Given the description of an element on the screen output the (x, y) to click on. 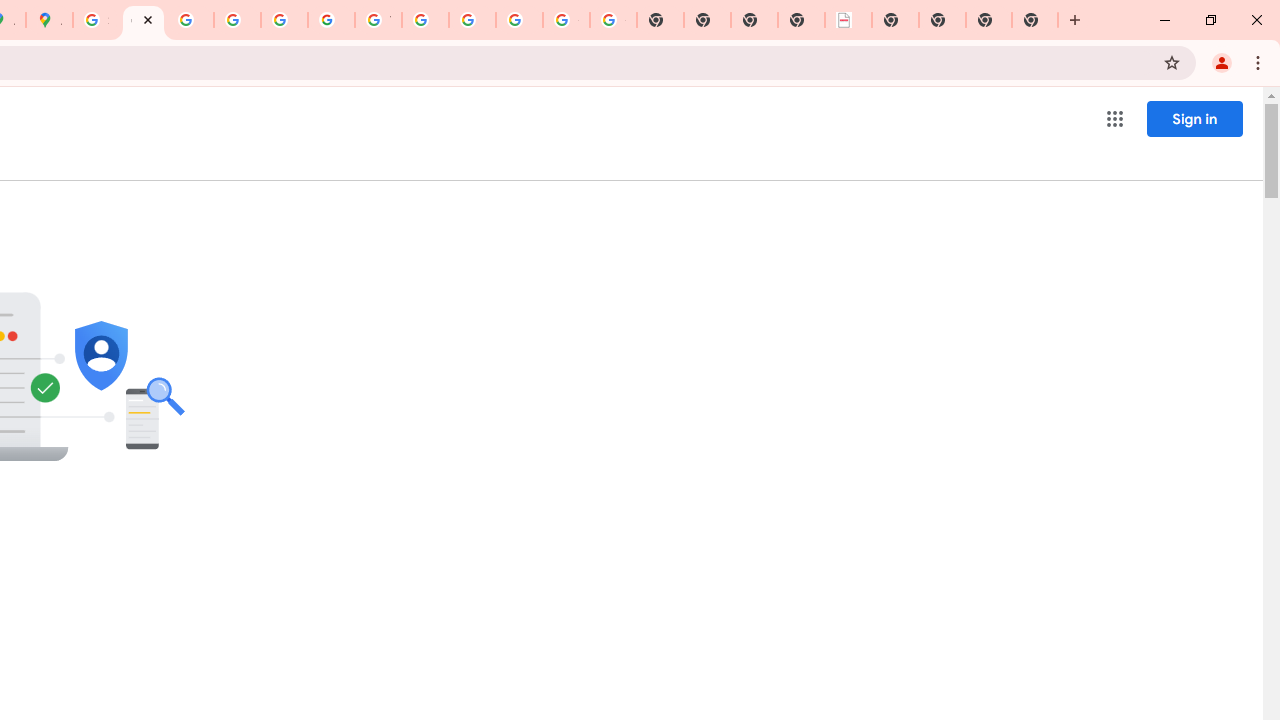
New Tab (1035, 20)
LAAD Defence & Security 2025 | BAE Systems (848, 20)
Privacy Help Center - Policies Help (237, 20)
Sign in - Google Accounts (96, 20)
